Given the description of an element on the screen output the (x, y) to click on. 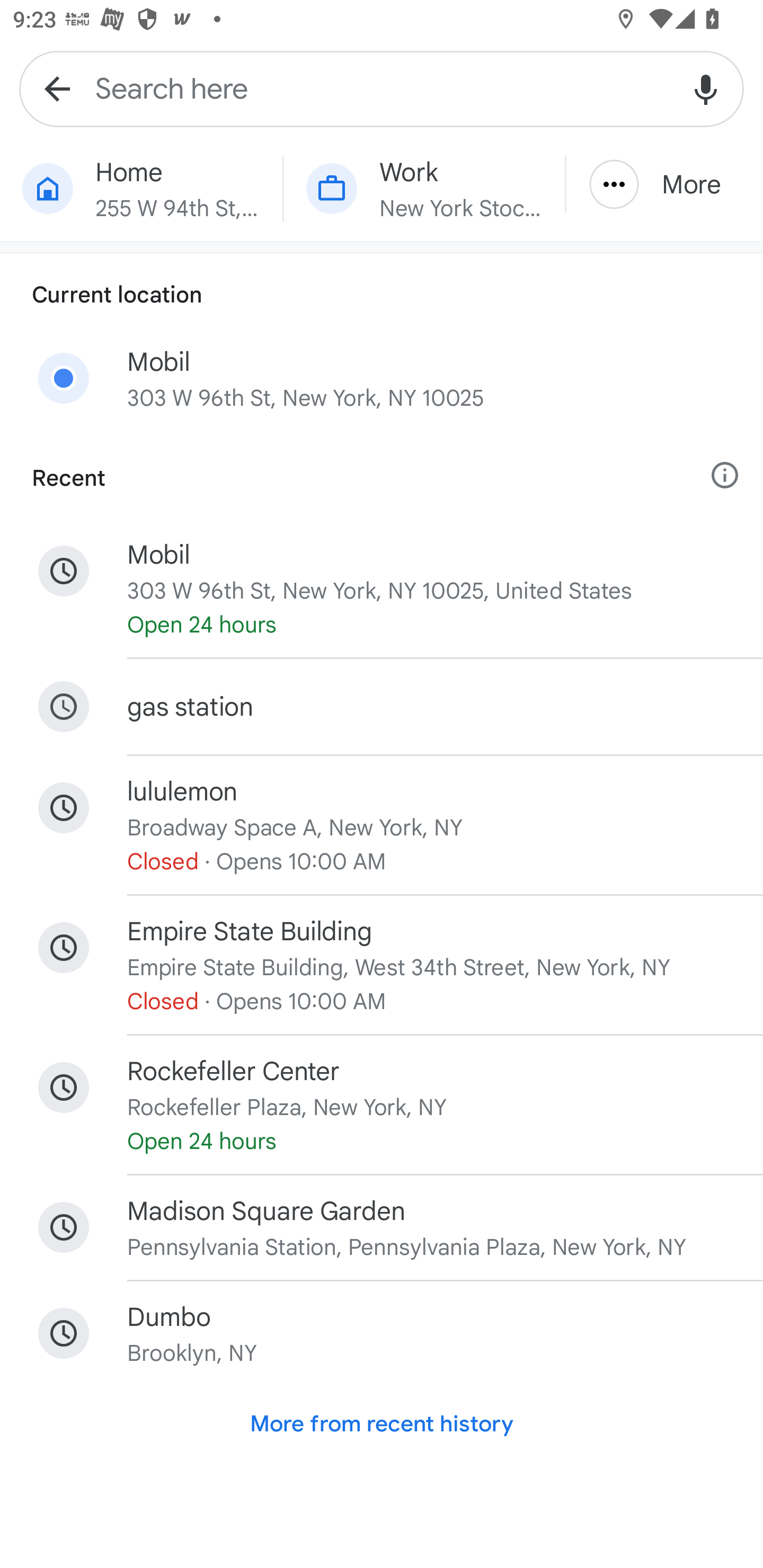
Navigate up (57, 88)
Search here (381, 88)
Voice search (705, 88)
More (664, 184)
Mobil 303 W 96th St, New York, NY 10025 (381, 386)
gas station (381, 706)
Dumbo Brooklyn, NY (381, 1333)
More from recent history (381, 1423)
